Given the description of an element on the screen output the (x, y) to click on. 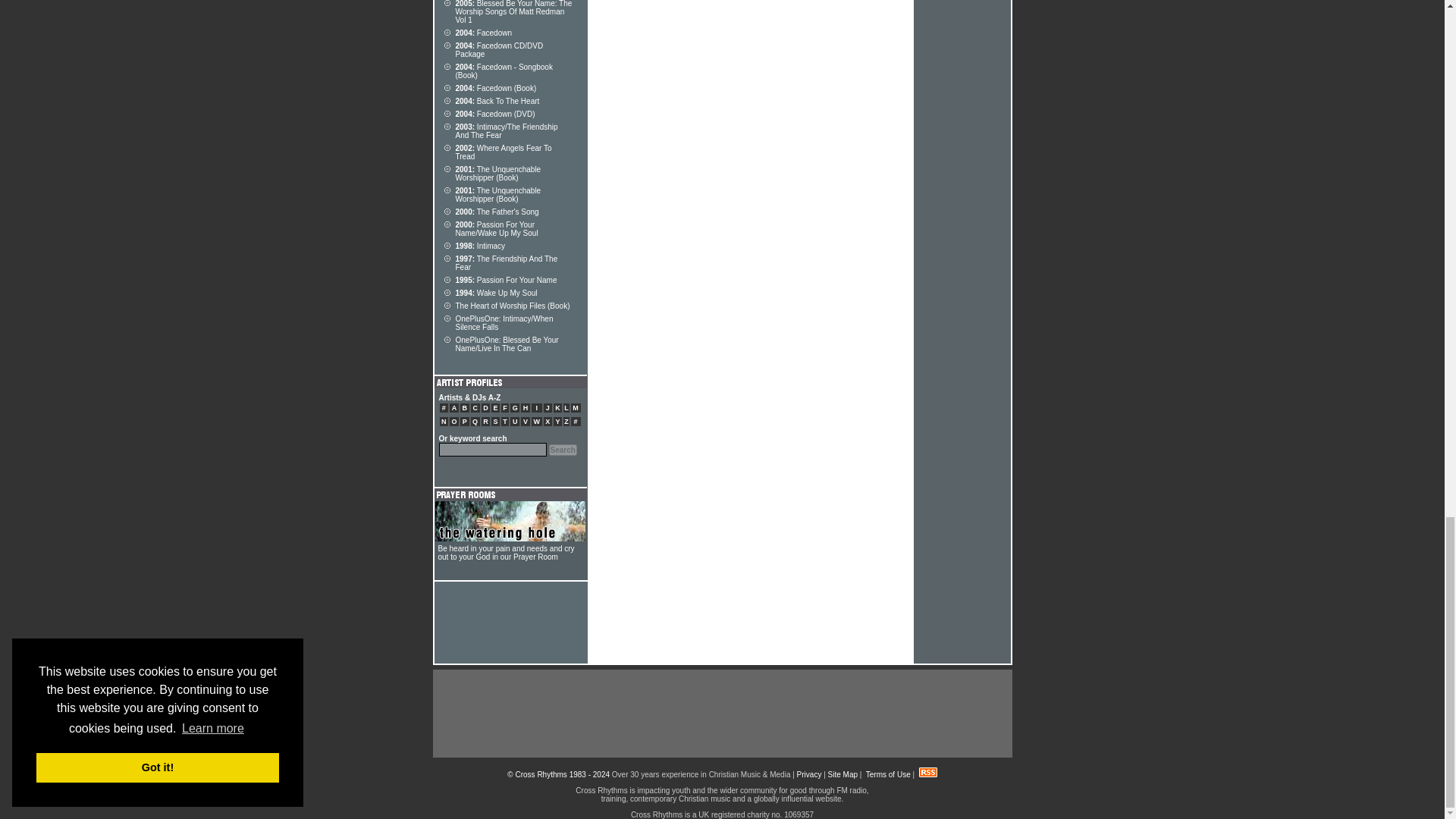
3rd party ad content (721, 713)
Search (562, 449)
